Given the description of an element on the screen output the (x, y) to click on. 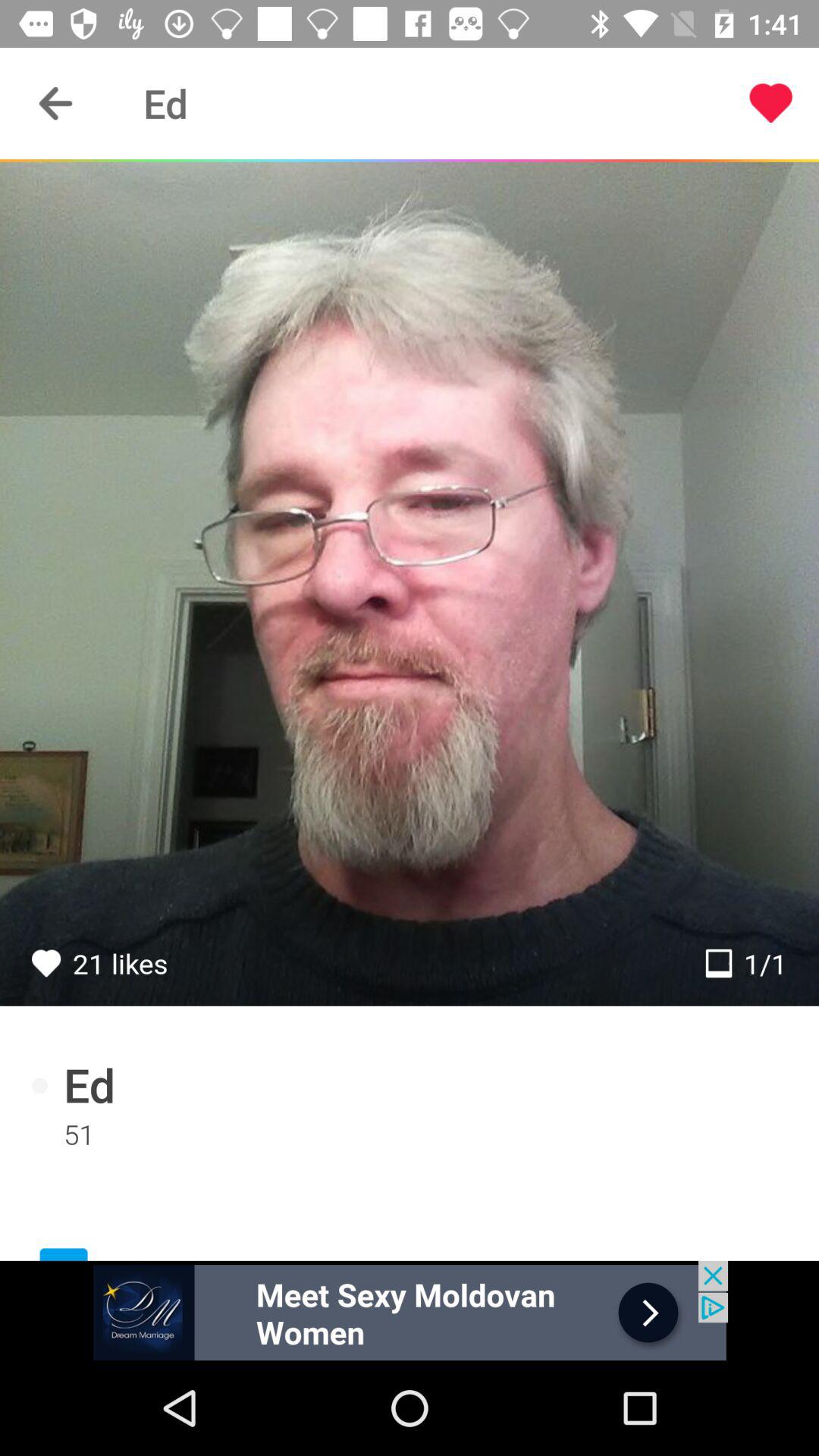
view advertisement (409, 1310)
